Given the description of an element on the screen output the (x, y) to click on. 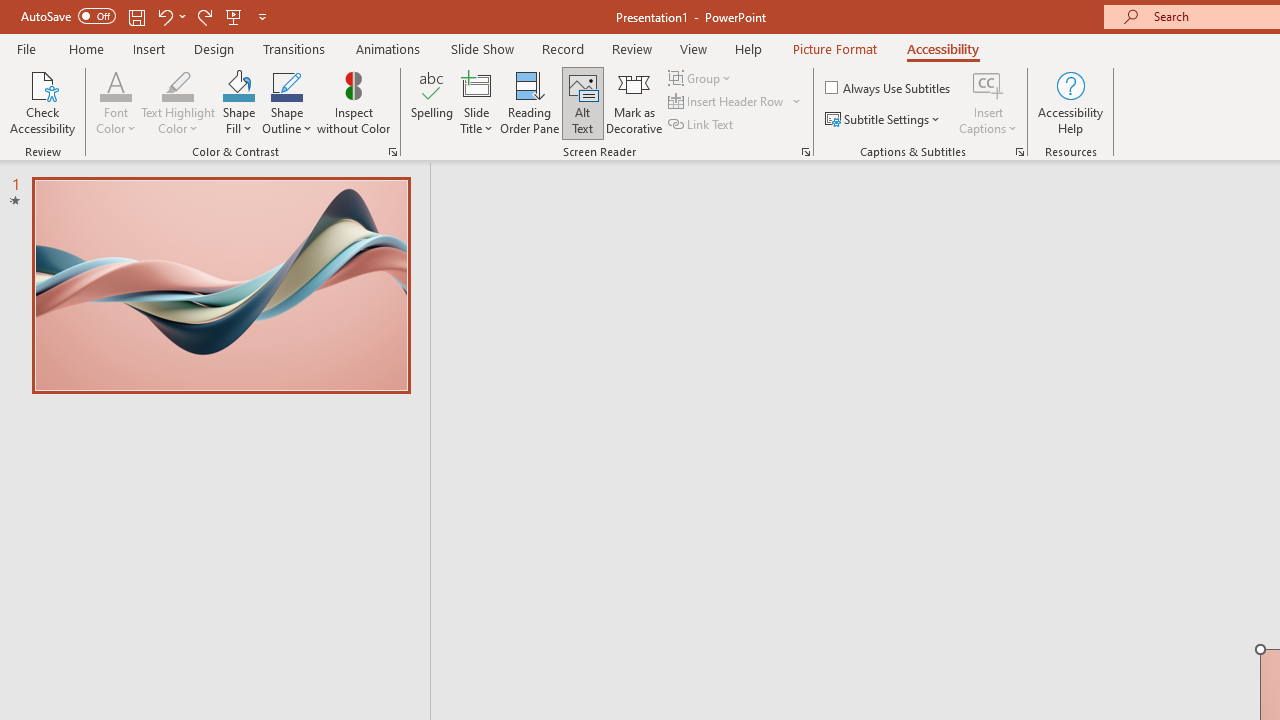
Link Text (702, 124)
Picture Format (834, 48)
Reading Order Pane (529, 102)
